Given the description of an element on the screen output the (x, y) to click on. 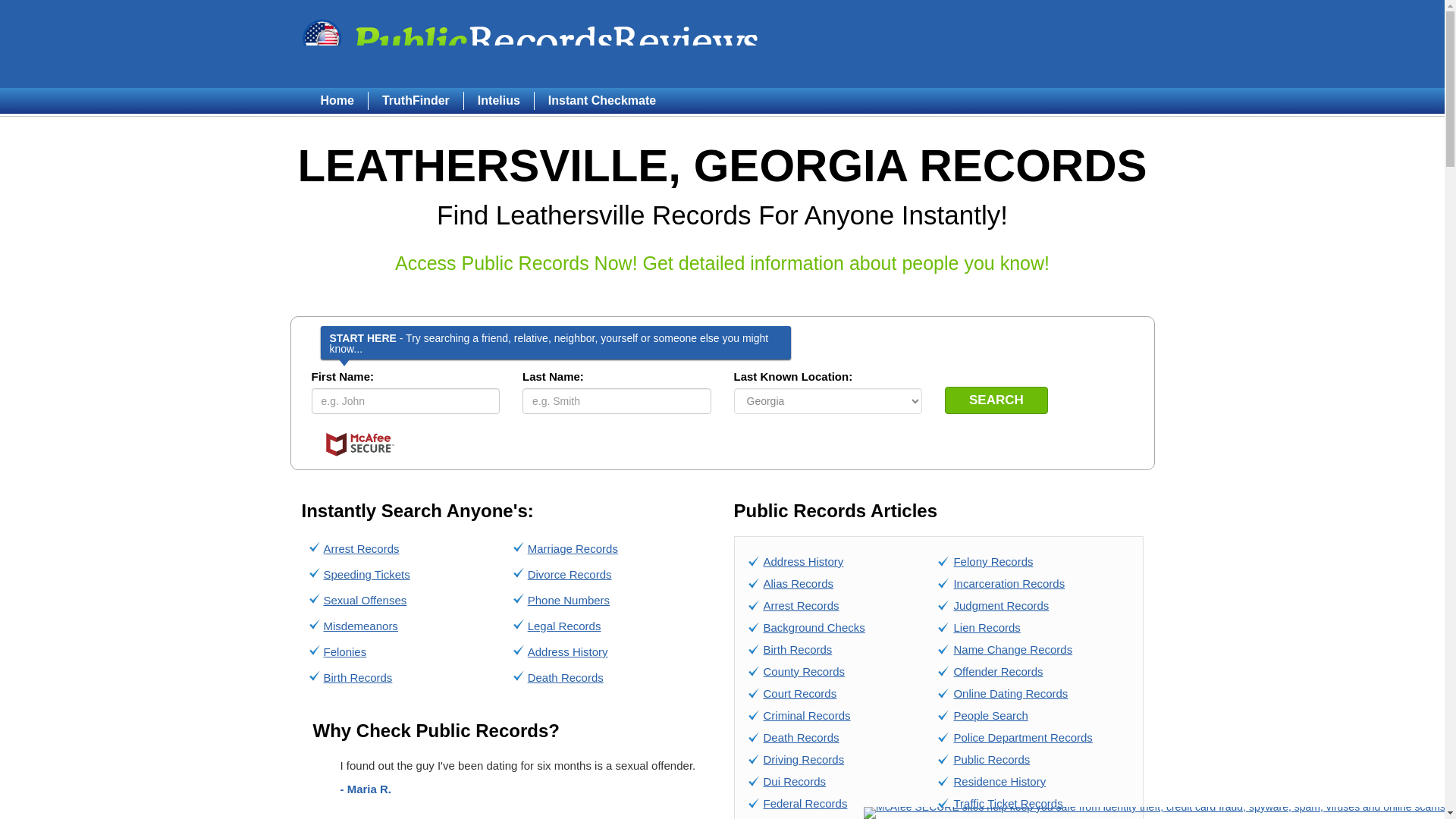
Intelius (498, 100)
Legal Records (564, 625)
Arrest Records (360, 548)
SEARCH (996, 400)
Background Checks (813, 626)
Sexual Offenses (364, 599)
Home (343, 100)
Felony Records (992, 561)
Birth Records (357, 676)
Address History (802, 561)
Speeding Tickets (366, 574)
Phone Numbers (568, 599)
Incarceration Records (1008, 583)
Offender Records (997, 671)
Dui Records (793, 780)
